Given the description of an element on the screen output the (x, y) to click on. 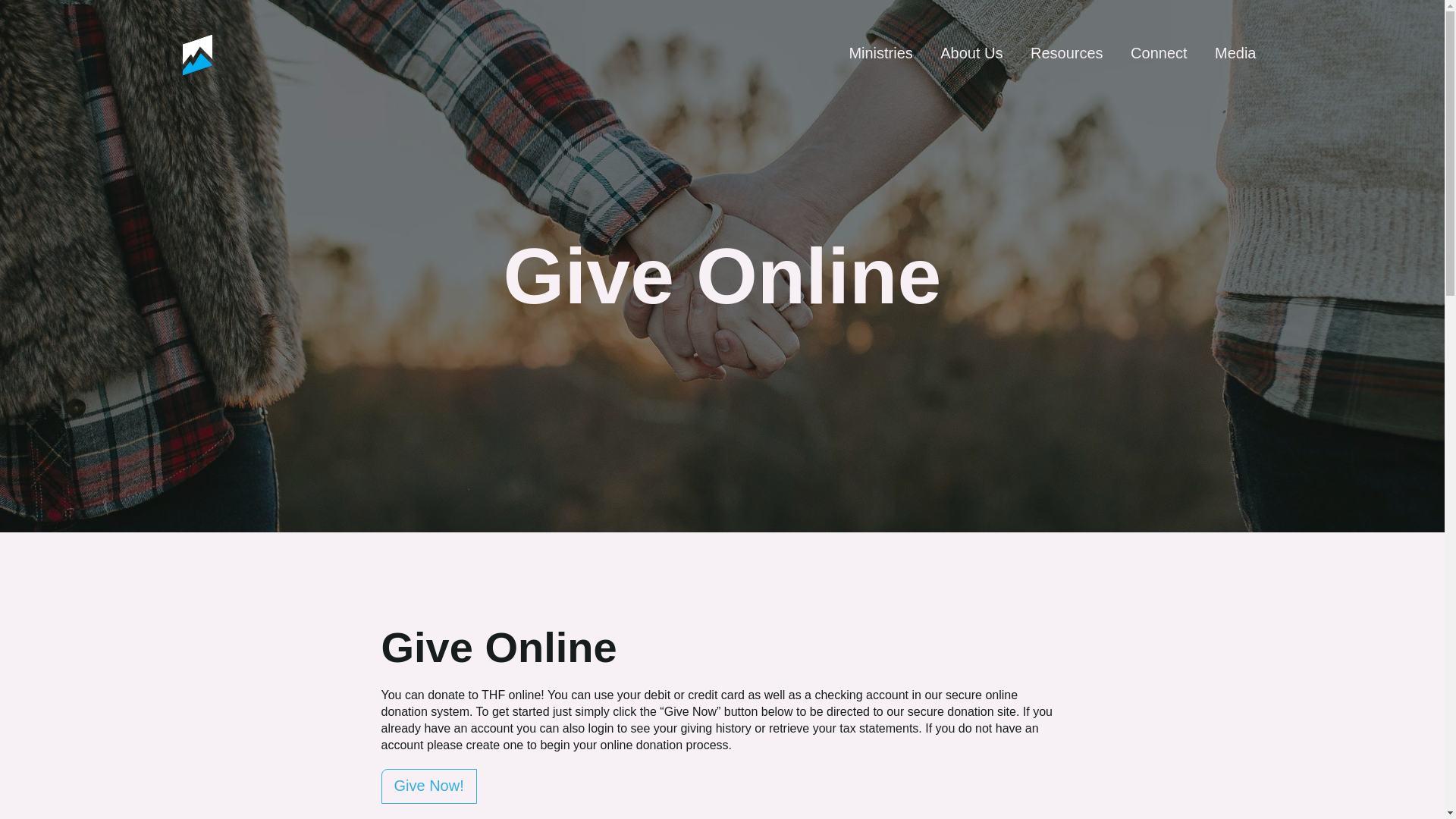
Ministries (879, 53)
Give Now! (428, 786)
Resources (1066, 53)
Connect (1158, 53)
Media (1235, 53)
About Us (971, 53)
